Given the description of an element on the screen output the (x, y) to click on. 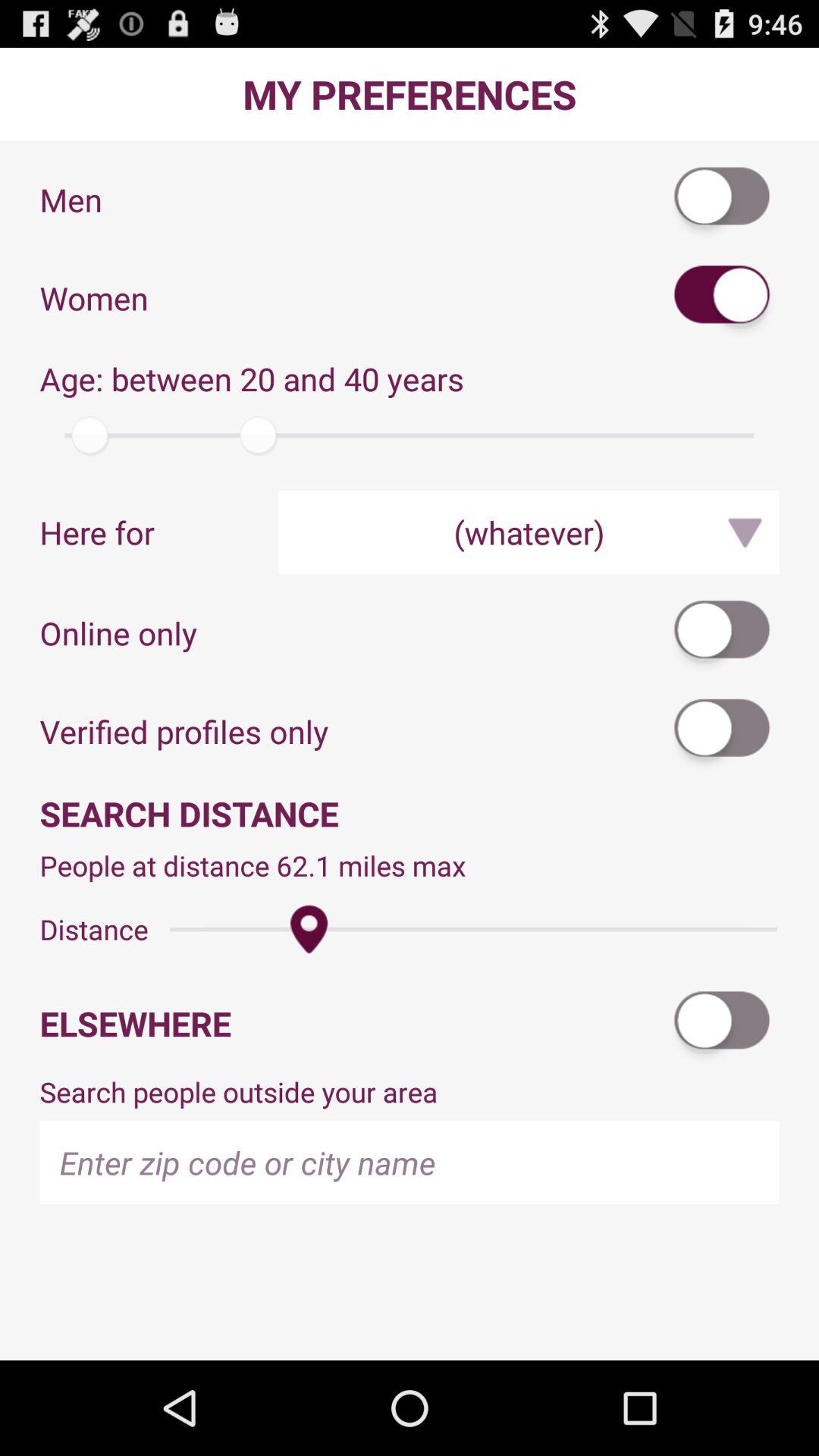
search for (722, 731)
